Given the description of an element on the screen output the (x, y) to click on. 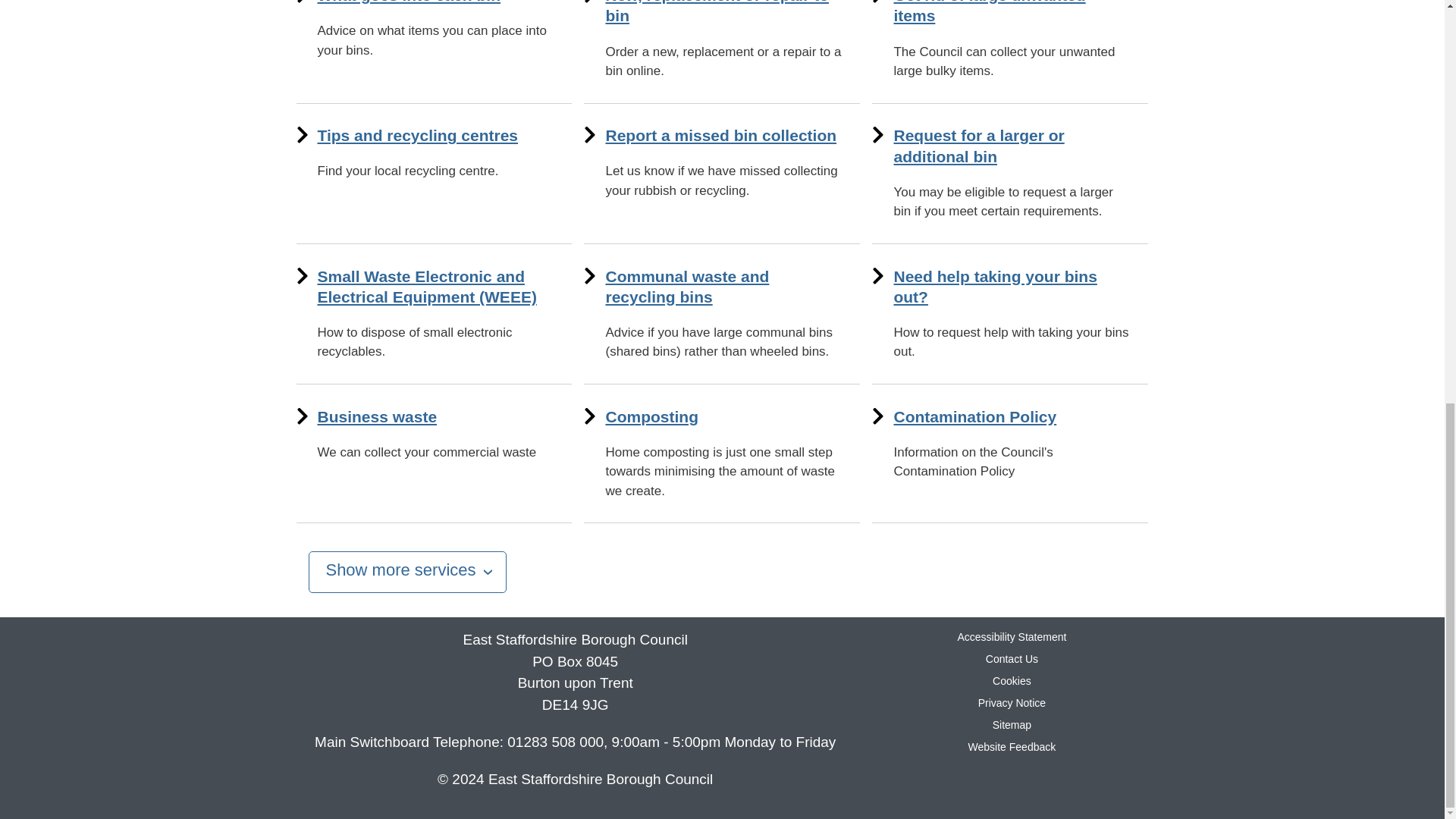
Composting (651, 416)
Communal waste and recycling bins (686, 286)
Business waste (376, 416)
Contamination Policy (975, 416)
Request for a larger or additional bin (978, 145)
What goes into each bin (408, 2)
Sitemap (1011, 725)
Report a missed bin collection (720, 135)
New, replacement or repair to bin (716, 12)
Cookies (1011, 680)
Accessibility Statement (1010, 636)
Tips and recycling centres (417, 135)
Show more services (406, 571)
Need help taking your bins out? (994, 286)
Privacy Notice (1011, 702)
